Given the description of an element on the screen output the (x, y) to click on. 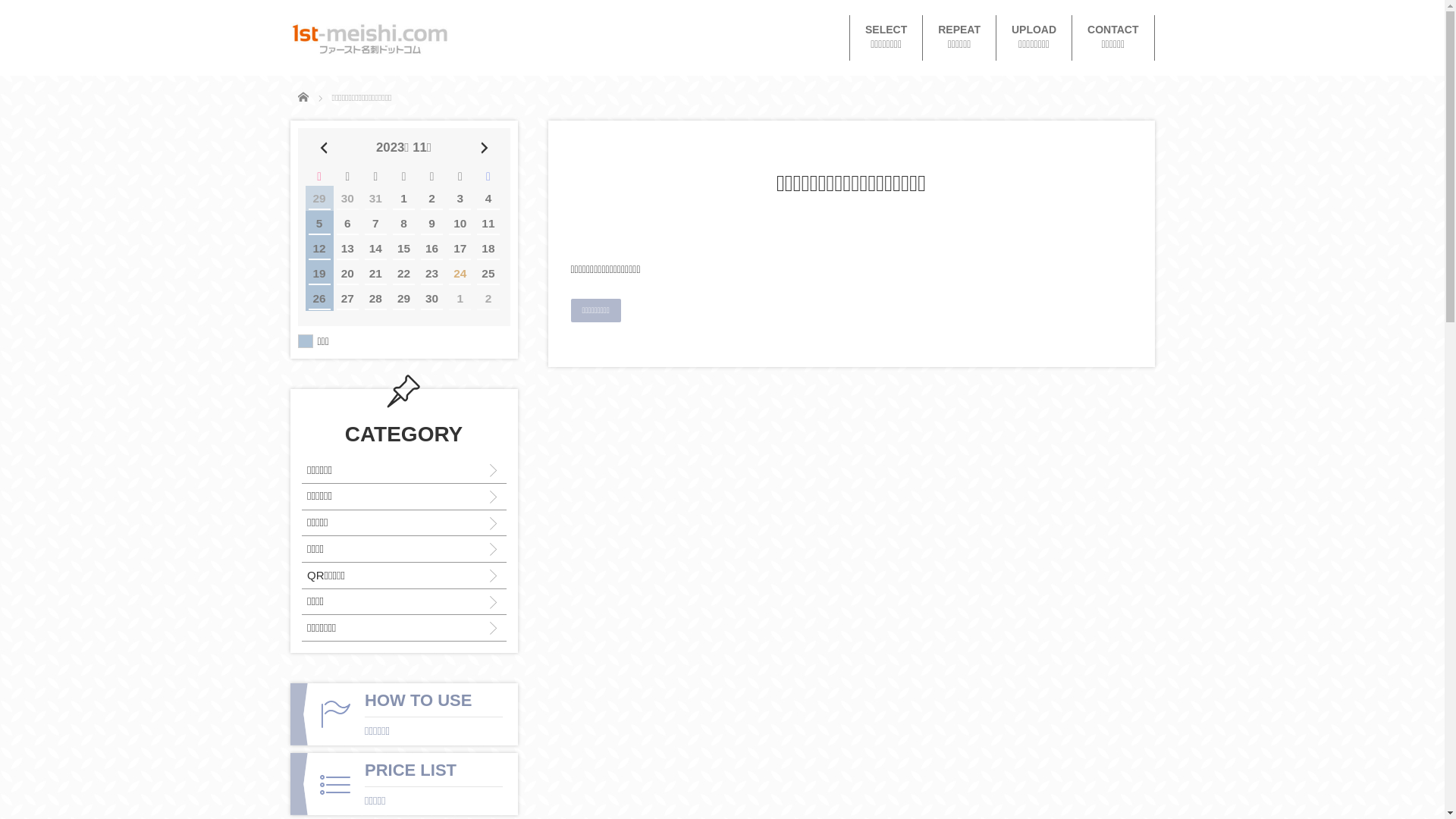
1st-meishi.com Element type: hover (368, 39)
